Given the description of an element on the screen output the (x, y) to click on. 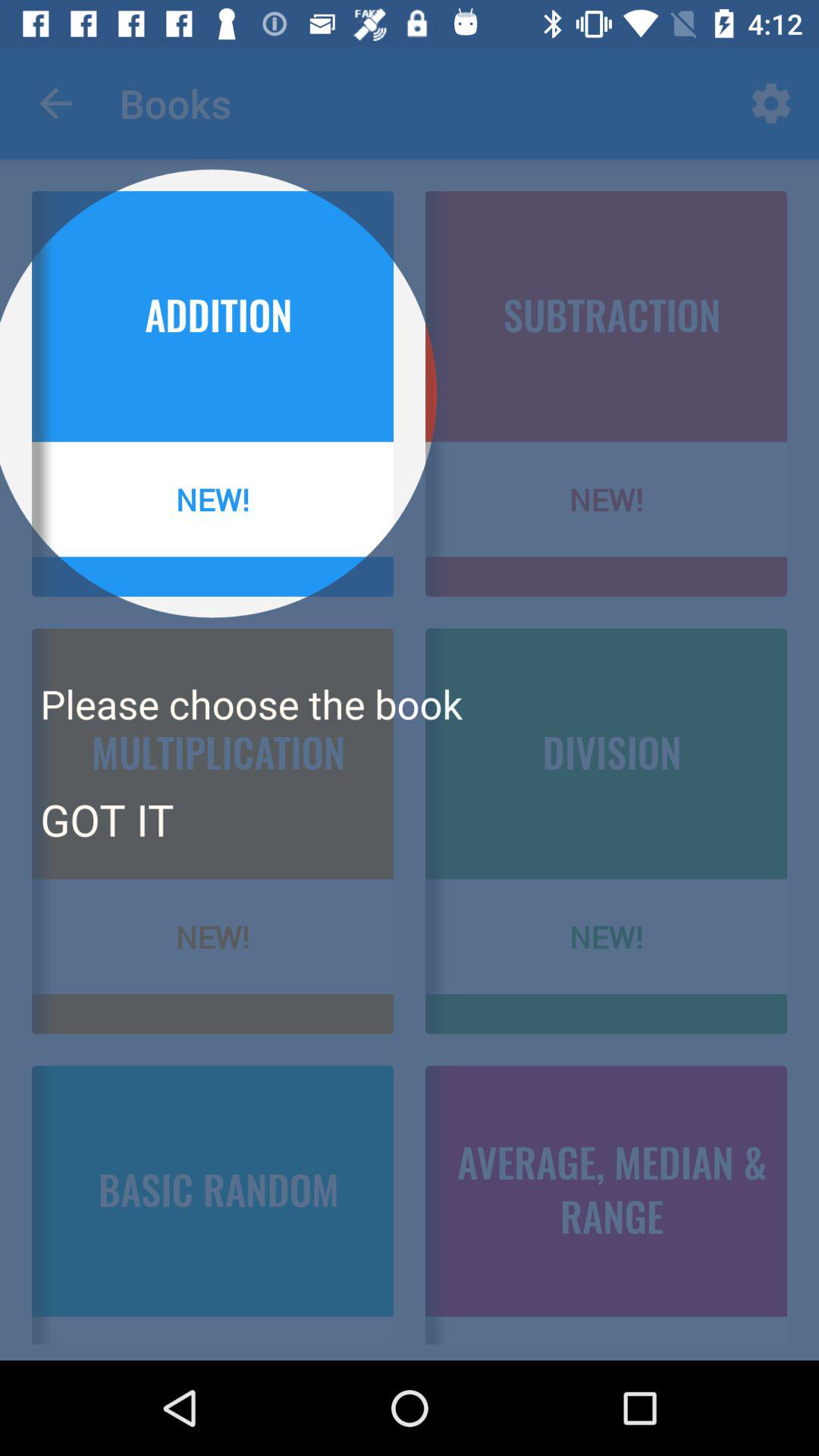
turn on item next to division item (107, 819)
